Given the description of an element on the screen output the (x, y) to click on. 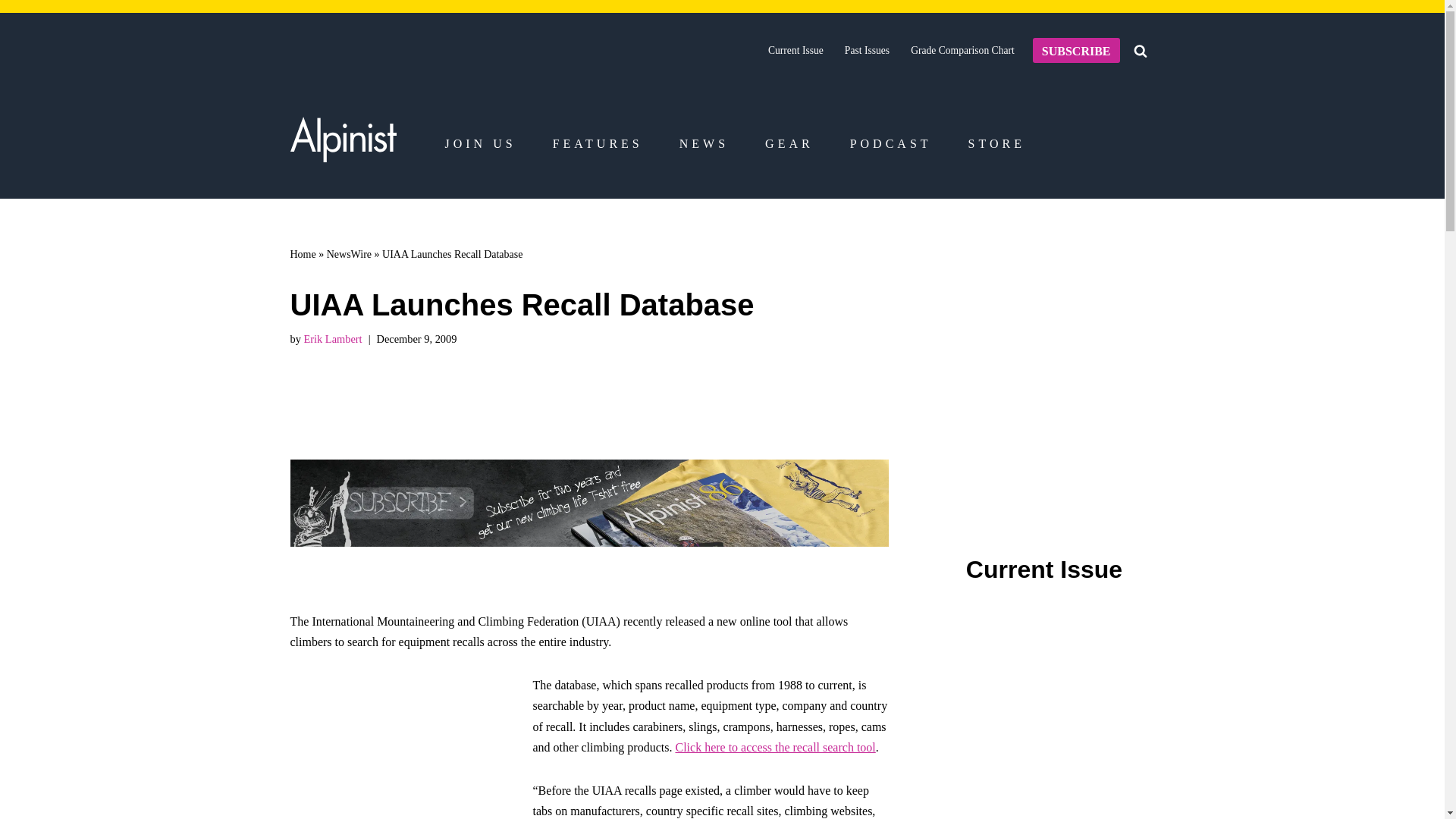
PODCAST (890, 143)
Home (302, 254)
Skip to content (11, 31)
Posts by Erik Lambert (331, 338)
3rd party ad content (1047, 361)
Grade Comparison Chart (962, 49)
Click here to access the recall search tool (775, 747)
FEATURES (598, 143)
STORE (996, 143)
SUBSCRIBE (1075, 50)
JOIN US (479, 143)
NEWS (704, 143)
Past Issues (866, 49)
GEAR (789, 143)
